Given the description of an element on the screen output the (x, y) to click on. 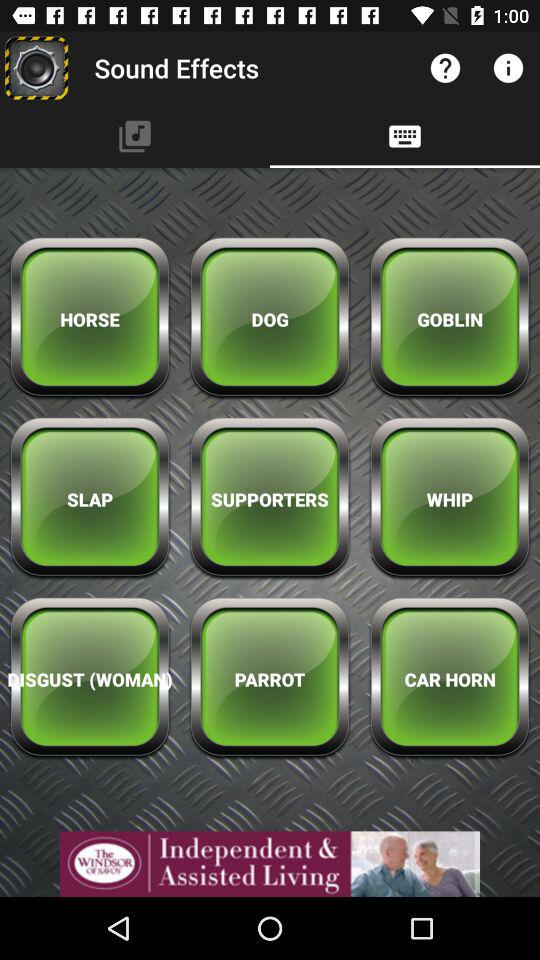
sound effects (36, 68)
